Given the description of an element on the screen output the (x, y) to click on. 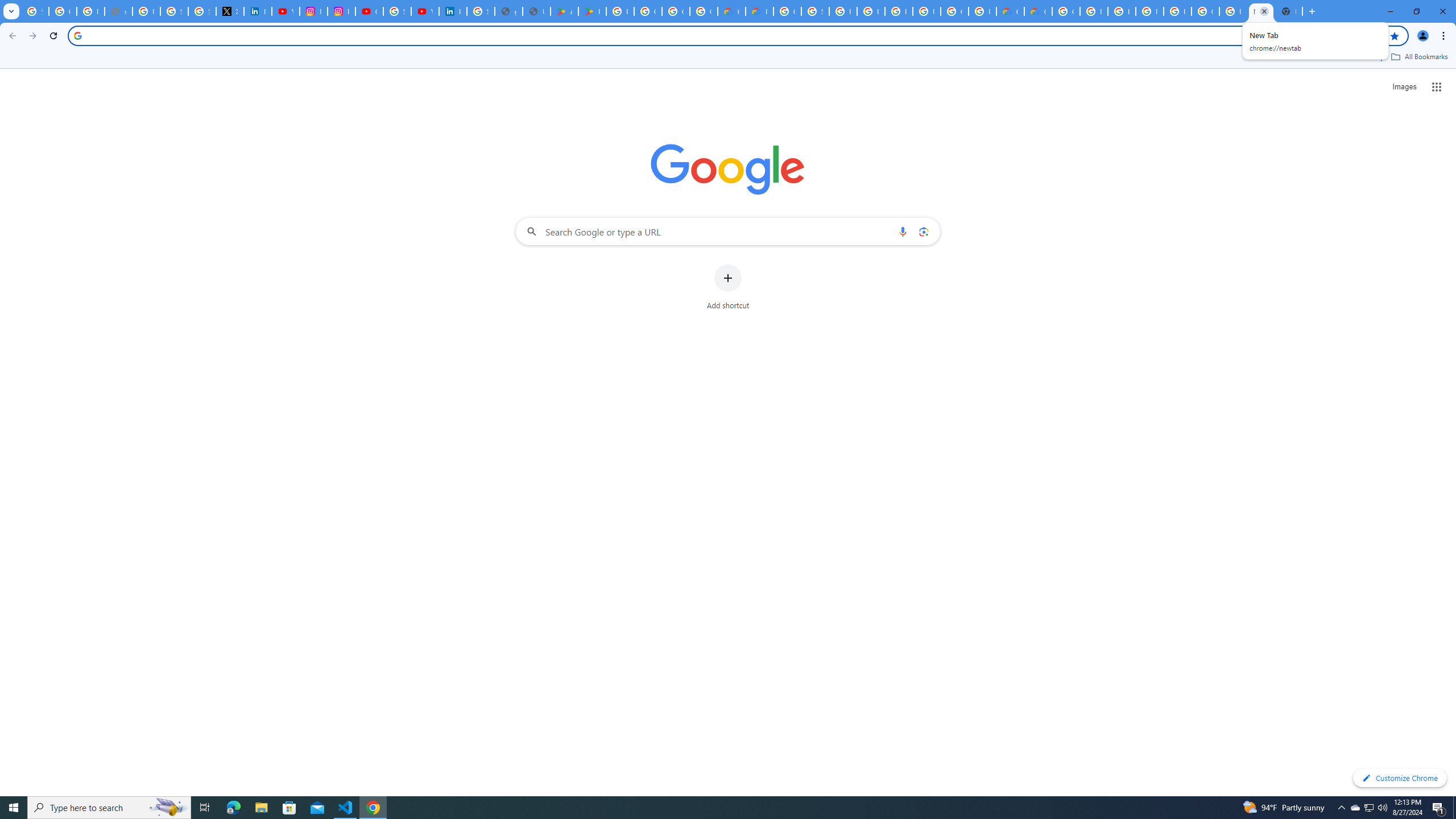
Add shortcut (727, 287)
X (229, 11)
Sign in - Google Accounts (815, 11)
Google Workspace - Specific Terms (703, 11)
Identity verification via Persona | LinkedIn Help (452, 11)
Search for Images  (1403, 87)
All Bookmarks (1418, 56)
